Given the description of an element on the screen output the (x, y) to click on. 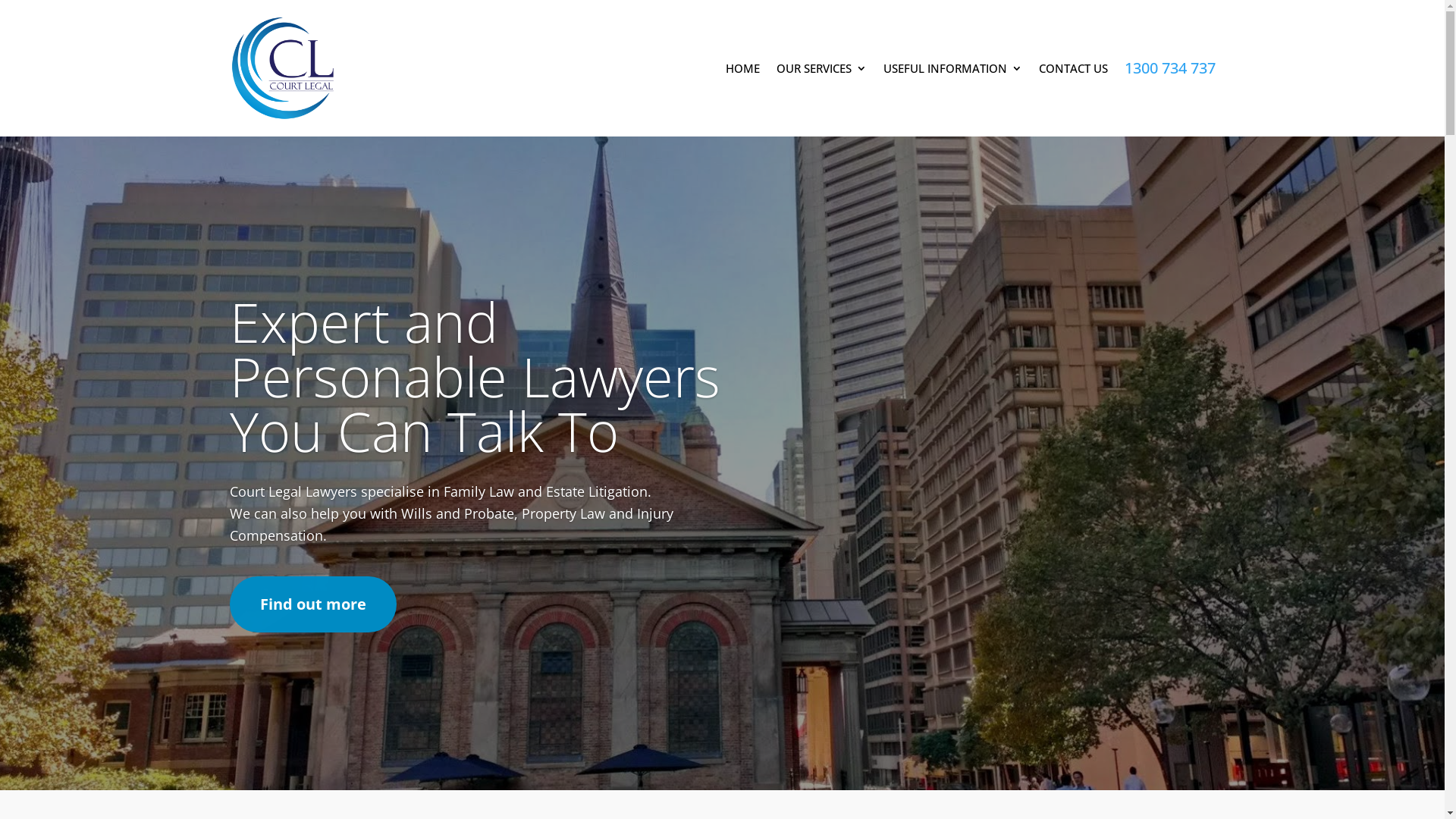
1300 734 737 Element type: text (1168, 68)
Expert and Personable Lawyers You Can Talk To Element type: text (474, 375)
OUR SERVICES Element type: text (821, 68)
HOME Element type: text (741, 68)
USEFUL INFORMATION Element type: text (951, 68)
CONTACT US Element type: text (1072, 68)
Find out more Element type: text (312, 604)
